Given the description of an element on the screen output the (x, y) to click on. 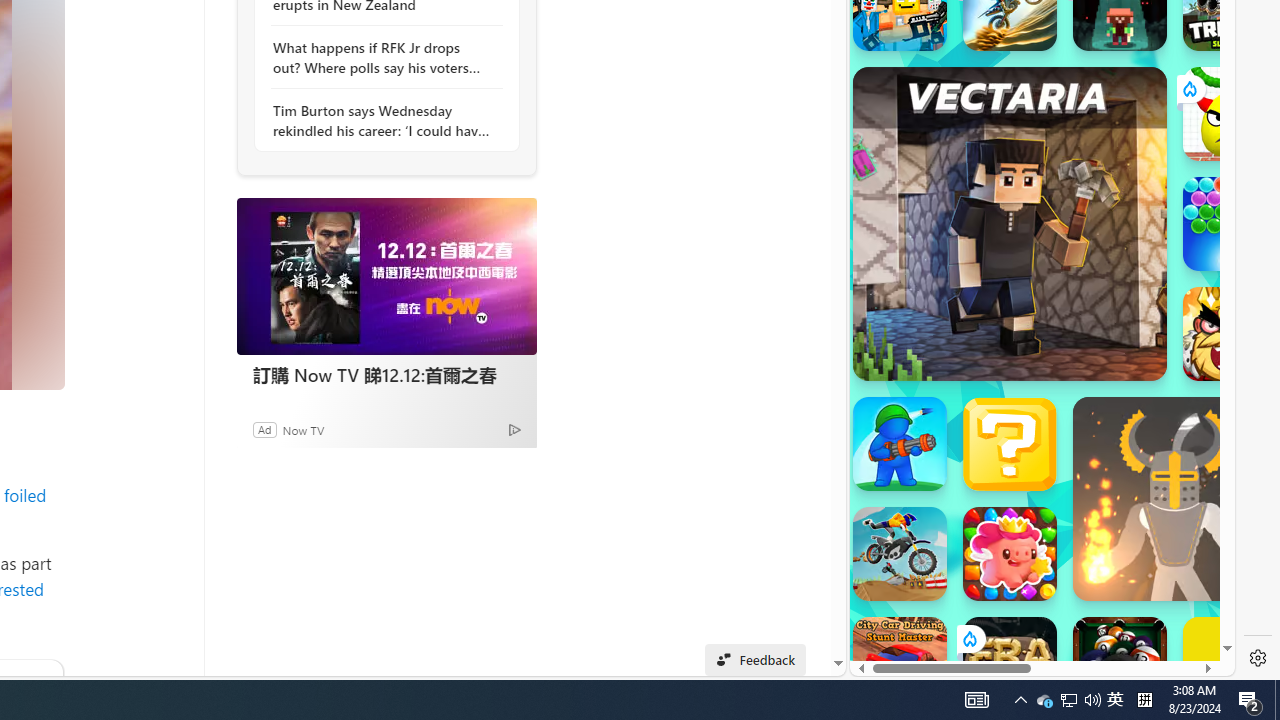
Vectaria.io (1009, 223)
Crazy Bikes Crazy Bikes (899, 553)
Vectaria.io Vectaria.io (1009, 223)
Like a King Like a King (1229, 333)
Crazy Cars (1217, 290)
Era: Evolution Era: Evolution (1009, 664)
Crazy Bikes (899, 553)
Combat Reloaded Combat Reloaded poki.com (1092, 245)
